Given the description of an element on the screen output the (x, y) to click on. 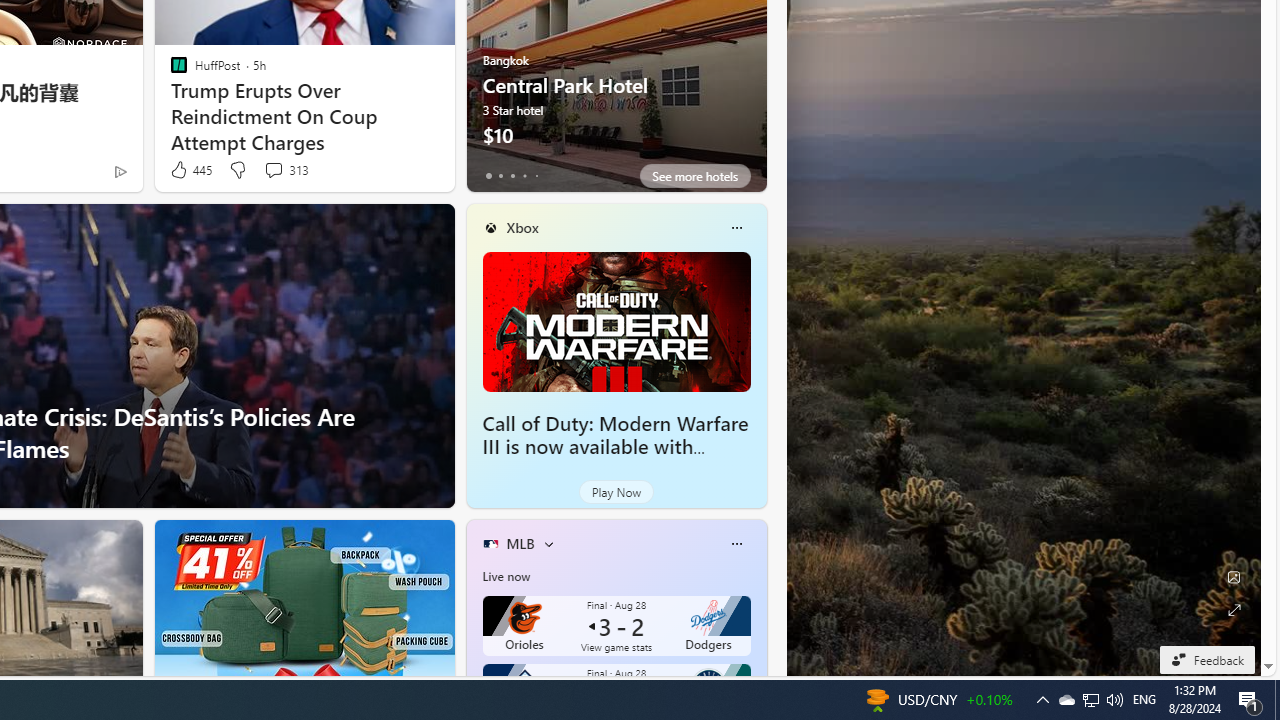
Play Now (616, 491)
tab-3 (524, 175)
See more hotels (694, 175)
More interests (548, 543)
